Given the description of an element on the screen output the (x, y) to click on. 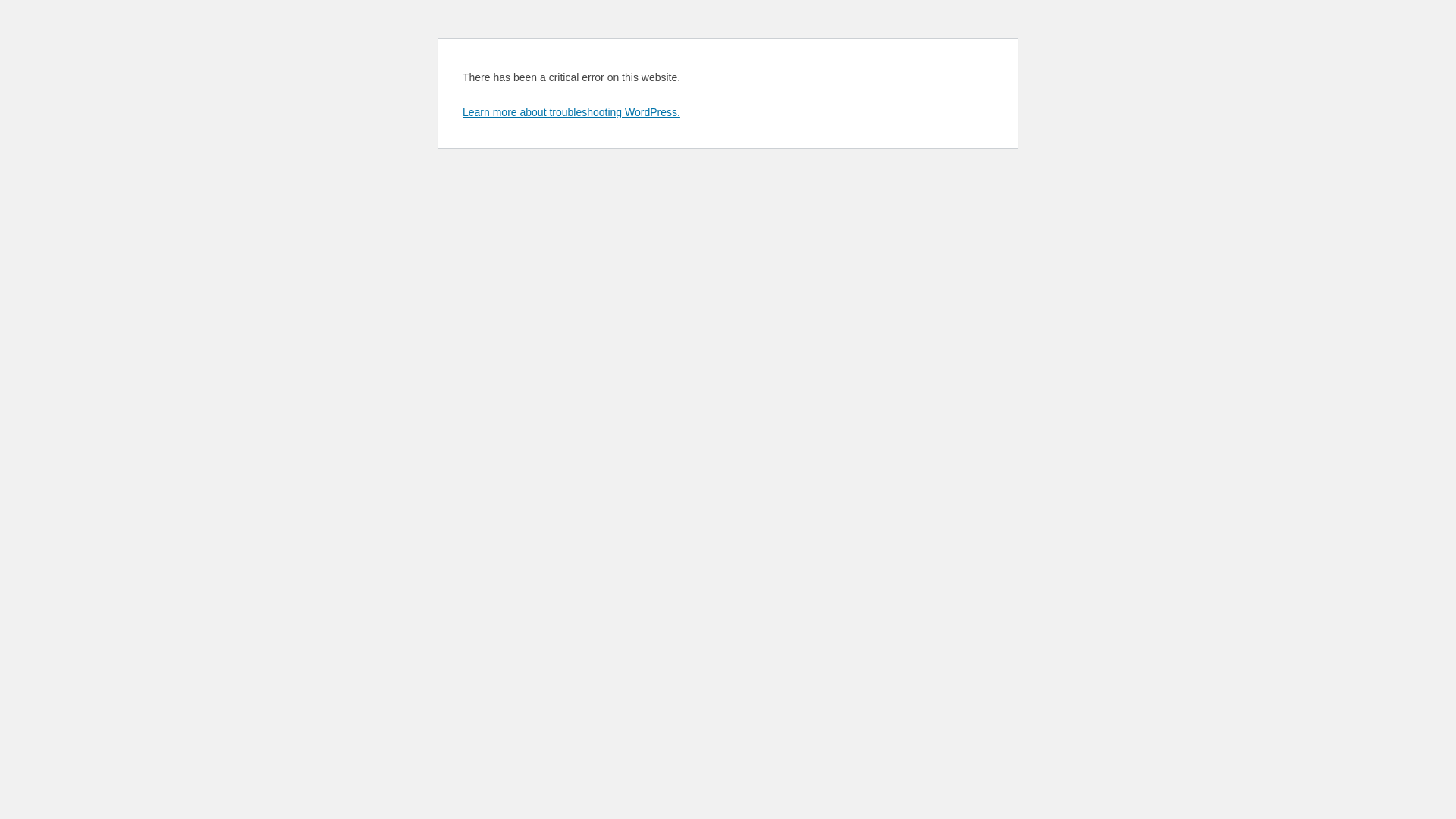
Learn more about troubleshooting WordPress. Element type: text (571, 112)
